Given the description of an element on the screen output the (x, y) to click on. 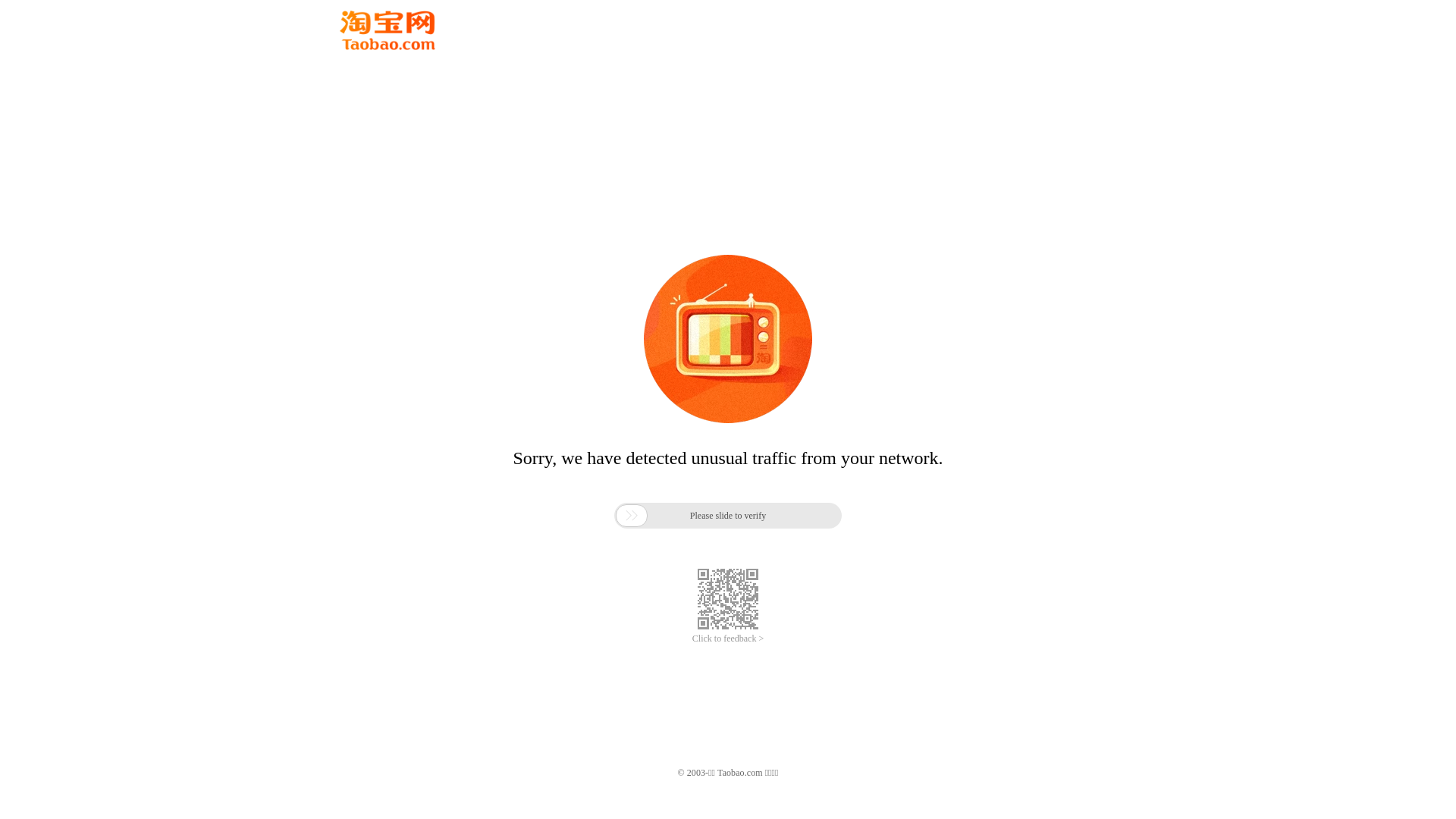
Click to feedback > Element type: text (727, 638)
